Given the description of an element on the screen output the (x, y) to click on. 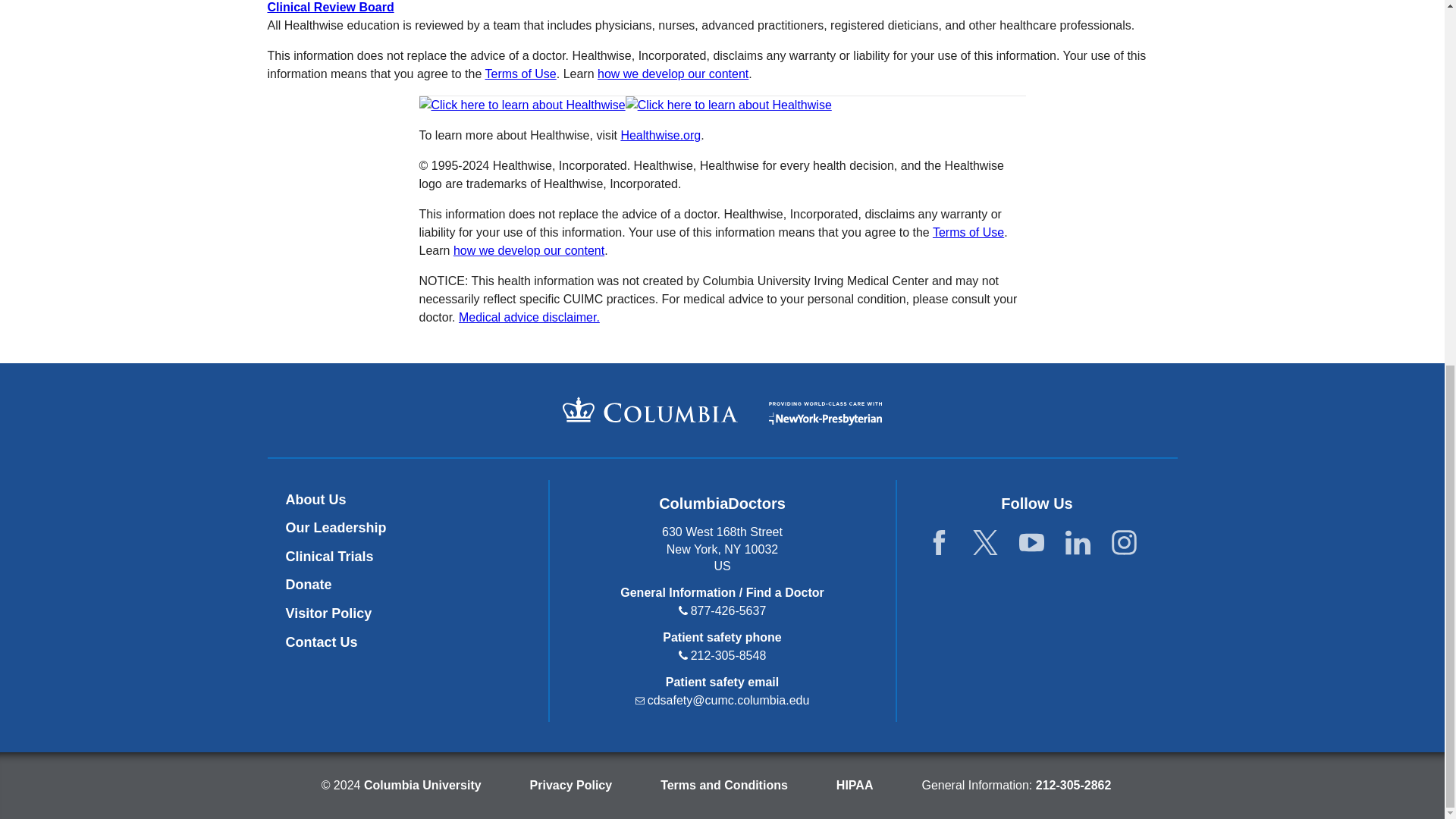
Our Leadership (335, 527)
Healthwise.org (660, 134)
Visitor Policy (328, 613)
Contact Us (320, 642)
Terms of Use (968, 232)
Medical advice disclaimer. (528, 317)
how we develop our content (528, 250)
Clinical Review Board (329, 6)
Facebook (939, 547)
Terms of Use (520, 73)
Clinical Trials (328, 556)
877-426-5637 (728, 610)
how we develop our content (672, 73)
About Us (315, 499)
Donate (308, 584)
